Given the description of an element on the screen output the (x, y) to click on. 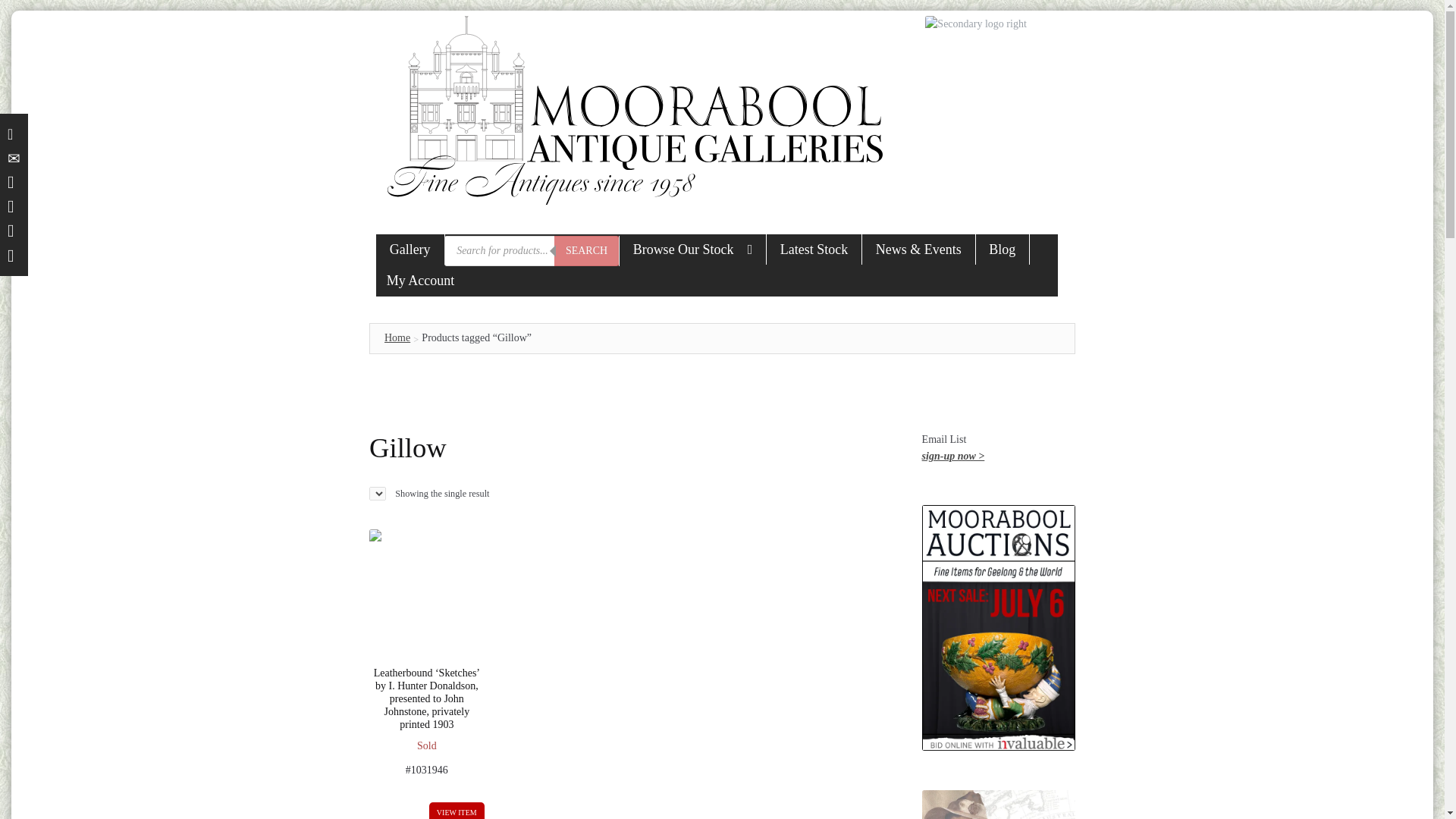
Browse Our Stock (693, 249)
SEARCH (586, 250)
Latest Stock (814, 249)
My Account (420, 281)
Home (397, 337)
VIEW ITEM (456, 810)
Blog (1002, 249)
Gallery (409, 249)
